Given the description of an element on the screen output the (x, y) to click on. 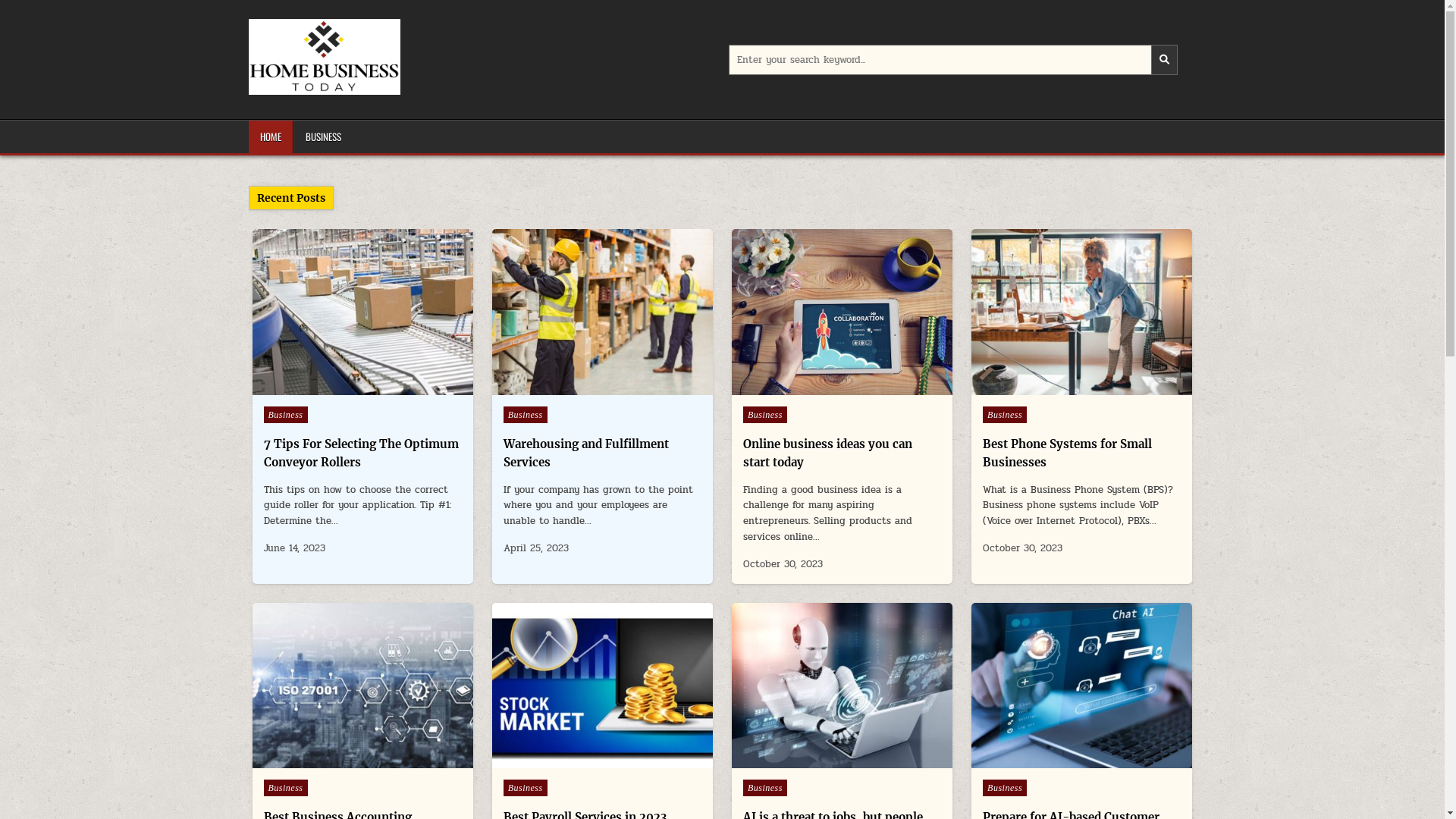
Home Business Today Element type: text (332, 110)
Business Element type: text (285, 787)
HOME Element type: text (270, 136)
Permanent Link to Best Phone Systems for Small Businesses Element type: hover (1081, 312)
Business Element type: text (765, 414)
Business Element type: text (285, 414)
BUSINESS Element type: text (321, 136)
Business Element type: text (525, 787)
Permanent Link to Warehousing and Fulfillment Services Element type: hover (602, 312)
7 Tips For Selecting The Optimum Conveyor Rollers Element type: text (360, 452)
Business Element type: text (1004, 787)
Warehousing and Fulfillment Services Element type: text (585, 452)
Business Element type: text (1004, 414)
Best Phone Systems for Small Businesses Element type: text (1066, 452)
Business Element type: text (525, 414)
Online business ideas you can start today Element type: text (827, 452)
Business Element type: text (765, 787)
Permanent Link to Best Payroll Services in 2023 Element type: hover (602, 685)
Permanent Link to Online business ideas you can start today Element type: hover (841, 312)
